Given the description of an element on the screen output the (x, y) to click on. 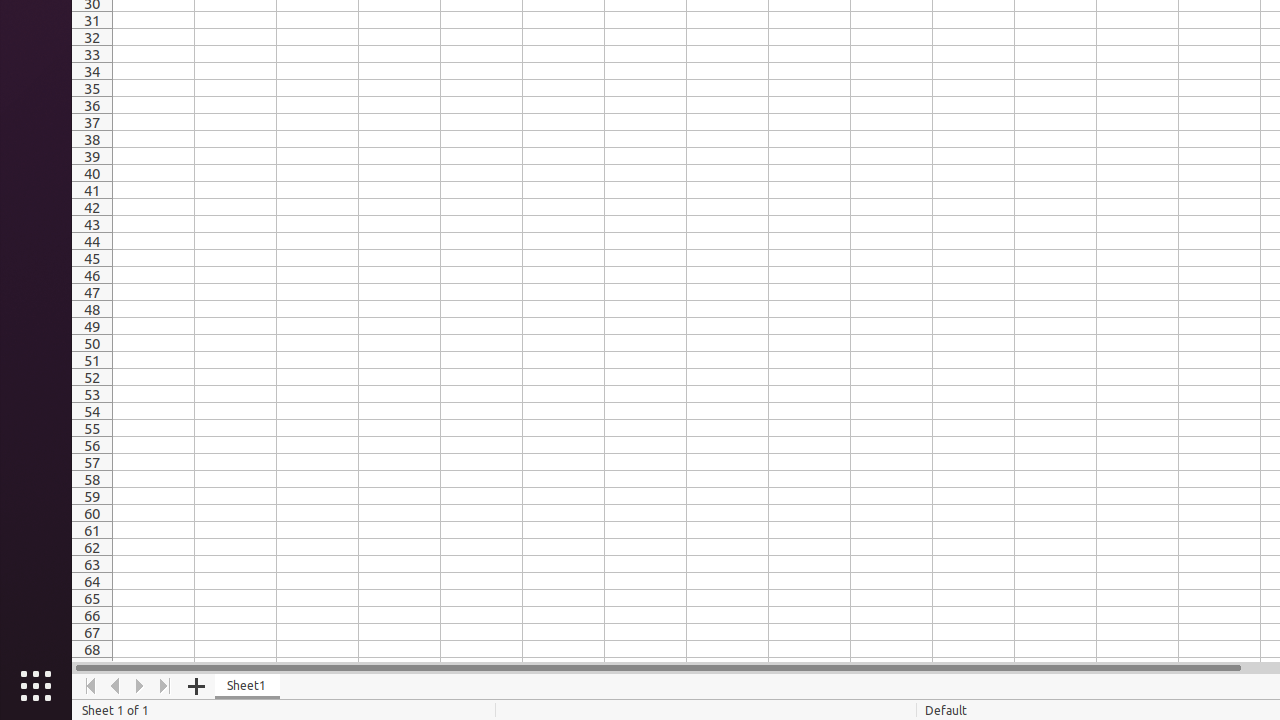
Move To Home Element type: push-button (90, 686)
Sheet1 Element type: page-tab (247, 686)
Move Right Element type: push-button (140, 686)
Move To End Element type: push-button (165, 686)
